Given the description of an element on the screen output the (x, y) to click on. 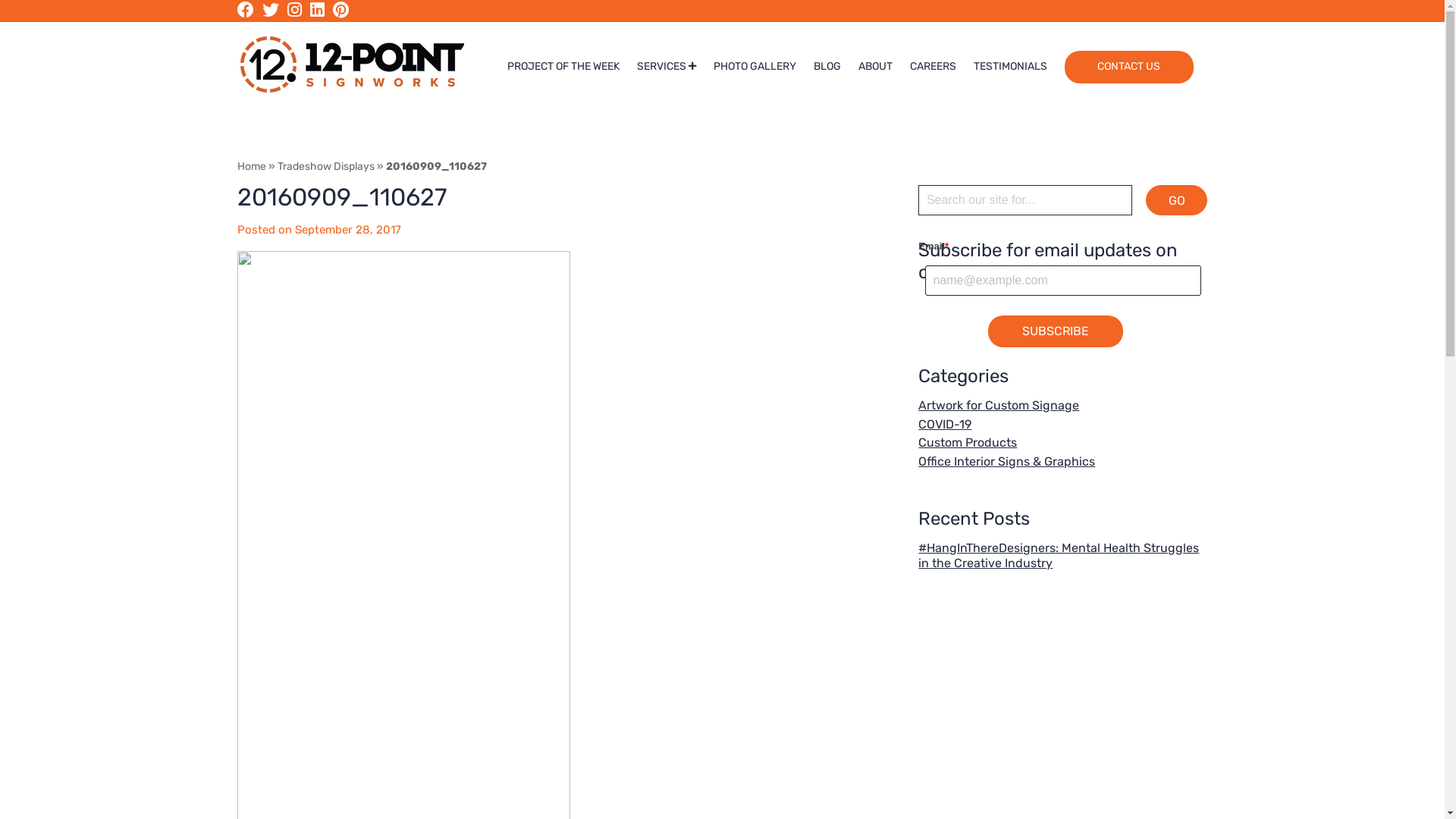
Office Interior Signs & Graphics Element type: text (1006, 461)
CAREERS Element type: text (933, 66)
PHOTO GALLERY Element type: text (754, 66)
CONTACT US Element type: text (1128, 66)
COVID-19 Element type: text (944, 424)
Go Element type: text (1176, 200)
Artwork for Custom Signage Element type: text (998, 405)
BLOG Element type: text (826, 66)
PROJECT OF THE WEEK Element type: text (563, 66)
Tradeshow Displays Element type: text (325, 166)
TESTIMONIALS Element type: text (1010, 66)
Subscribe Element type: text (1055, 331)
ABOUT Element type: text (875, 66)
Home Element type: text (250, 166)
SERVICES Element type: text (666, 66)
Custom Products Element type: text (967, 442)
